Given the description of an element on the screen output the (x, y) to click on. 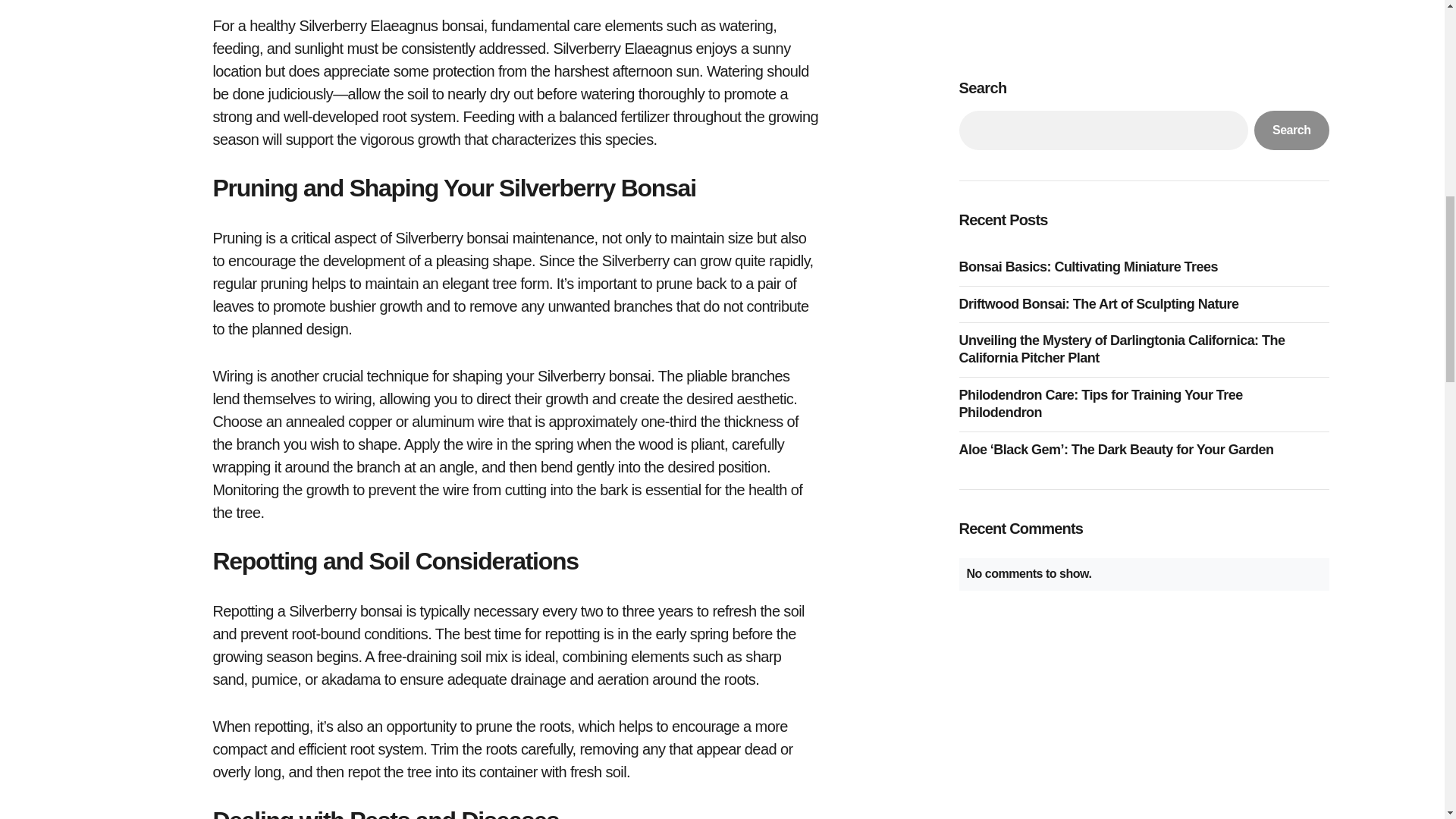
Driftwood Bonsai: The Art of Sculpting Nature (1102, 1)
Philodendron Care: Tips for Training Your Tree Philodendron (1142, 94)
